Given the description of an element on the screen output the (x, y) to click on. 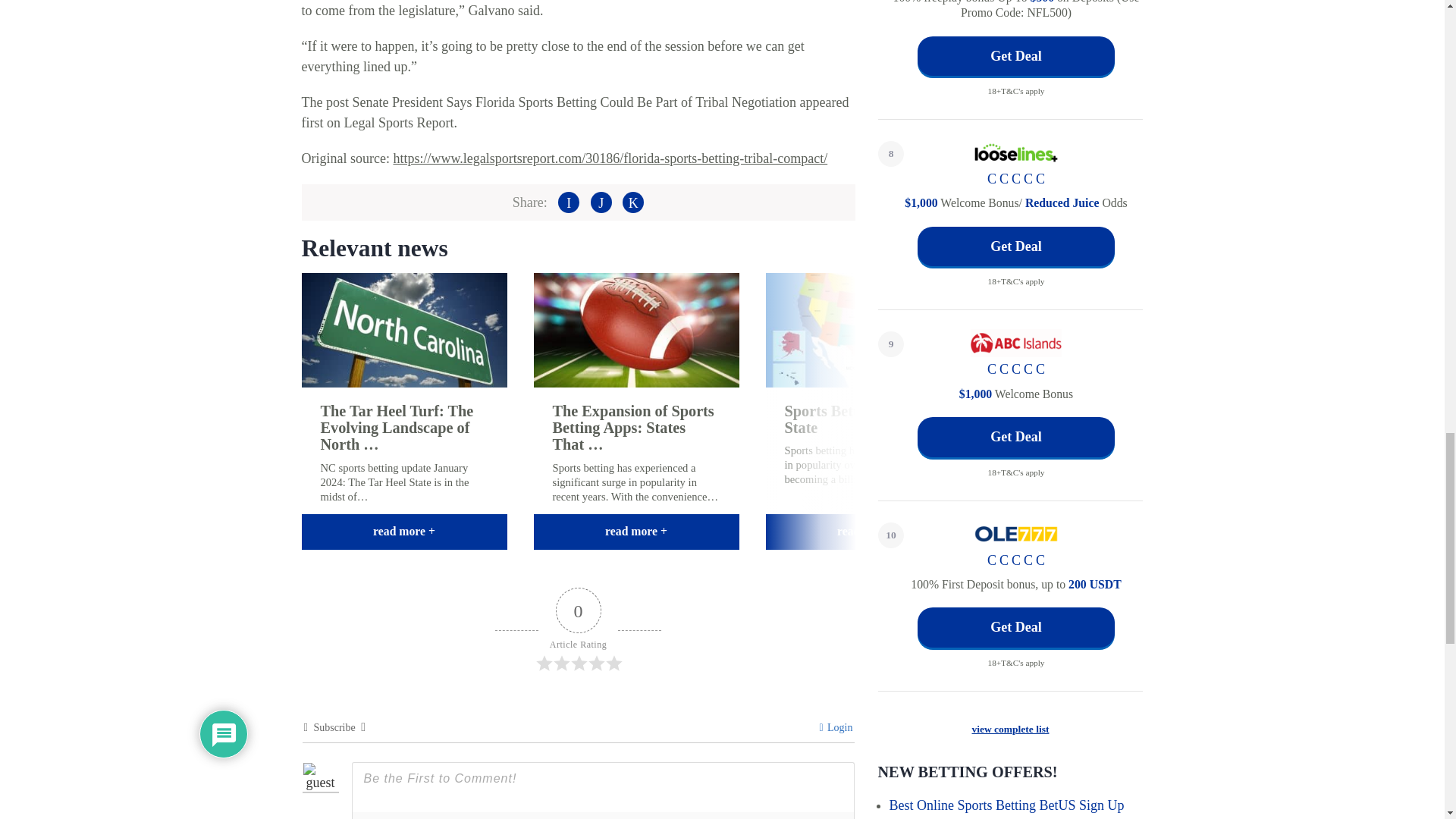
Share on Facebook (568, 201)
Sports Betting Laws by State 3 (868, 329)
Share by email (633, 201)
Share on Twitter (601, 201)
